Given the description of an element on the screen output the (x, y) to click on. 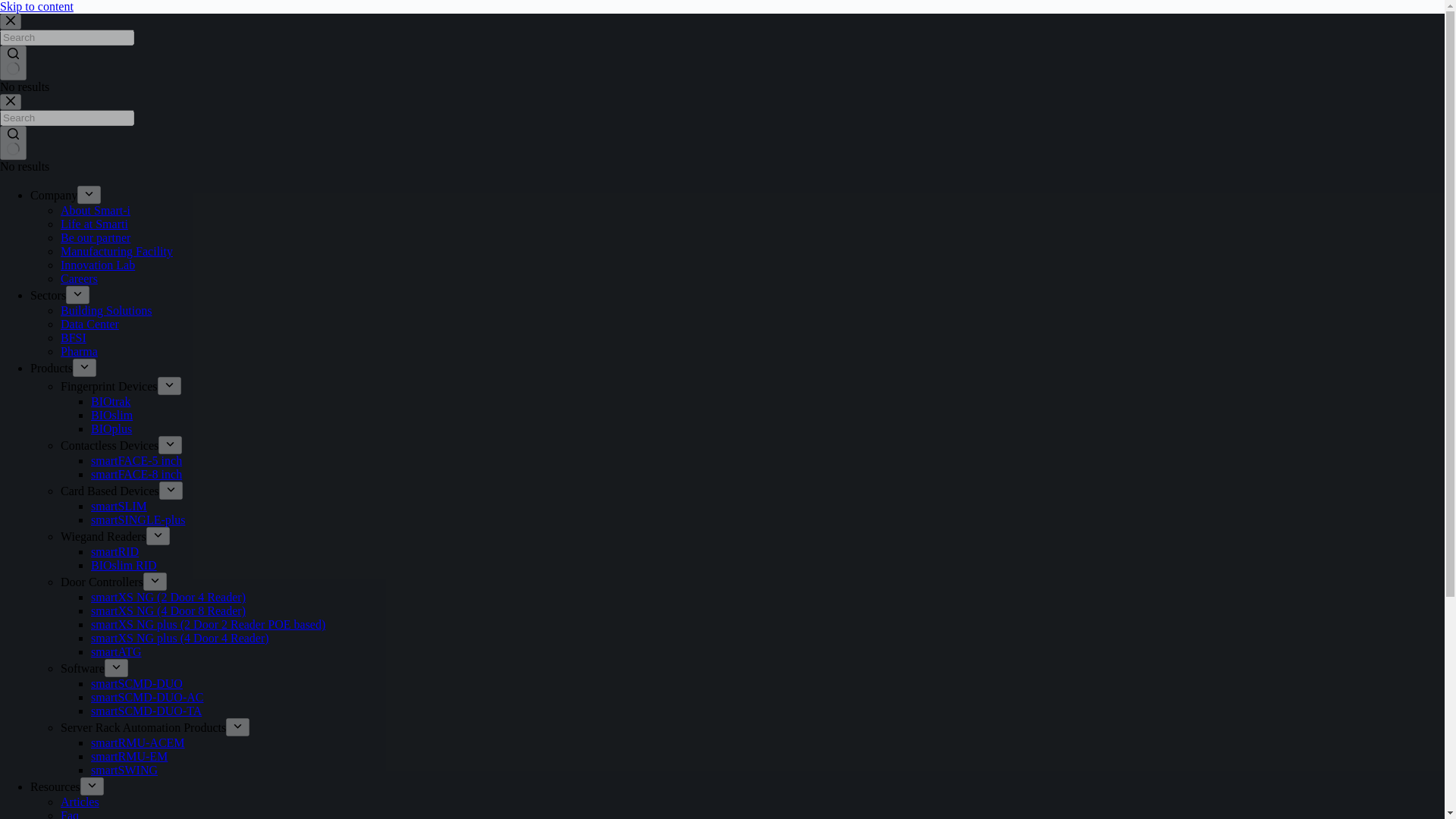
Be our partner (96, 237)
Life at Smarti (94, 223)
BFSI (73, 337)
Pharma (79, 350)
smartFACE-8 inch (136, 473)
Skip to content (37, 6)
smartSINGLE-plus (137, 519)
Company (53, 195)
Wiegand Readers (104, 535)
BIOtrak (110, 400)
